Given the description of an element on the screen output the (x, y) to click on. 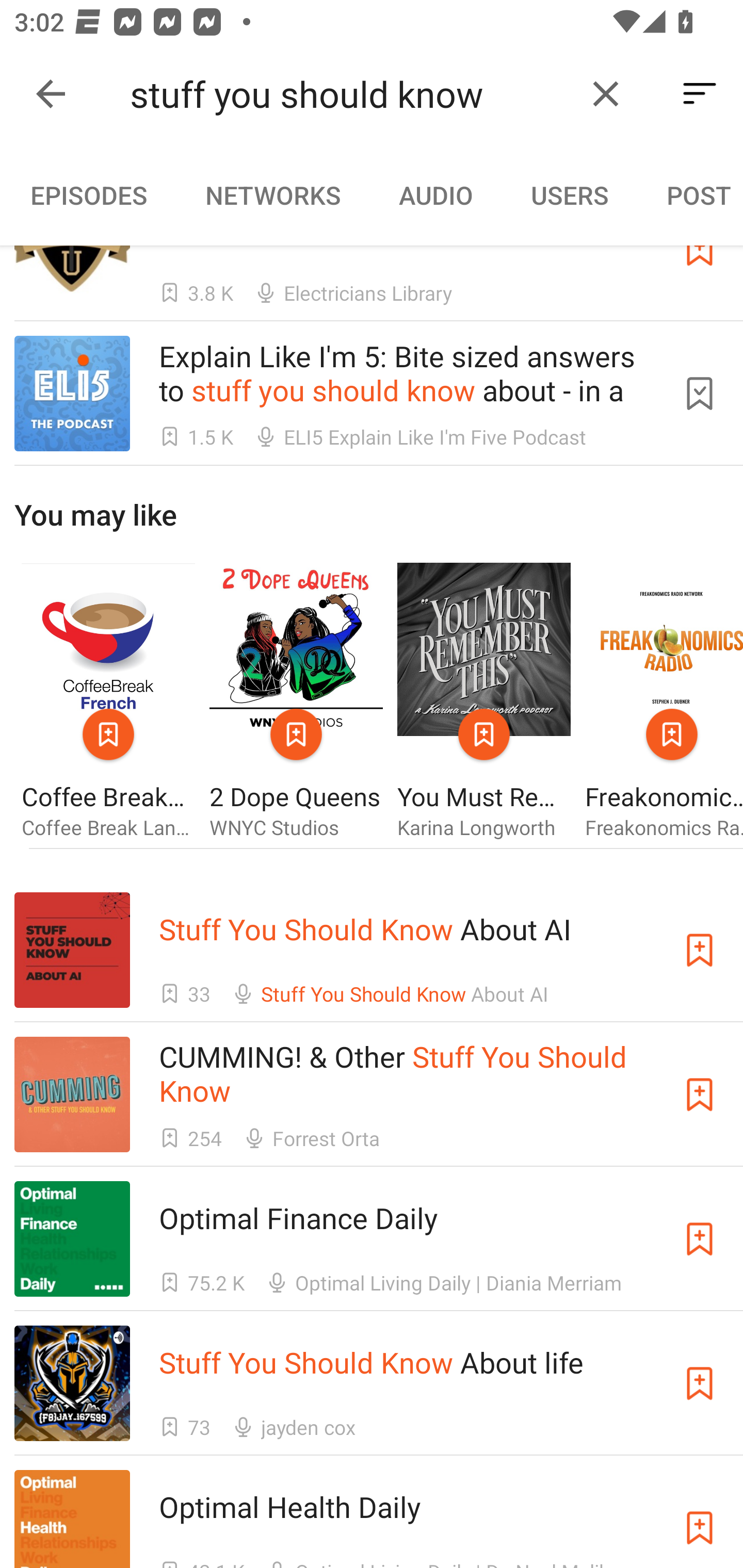
Collapse (50, 93)
Clear query (605, 93)
Sort By (699, 93)
stuff you should know (349, 94)
EPISODES (88, 195)
NETWORKS (272, 195)
AUDIO (435, 195)
USERS (569, 195)
POST (690, 195)
Unsubscribe (699, 393)
Coffee Break French Coffee Break Languages (107, 701)
2 Dope Queens WNYC Studios (295, 701)
You Must Remember This Karina Longworth (483, 701)
Freakonomics Radio Freakonomics Radio + Stitcher (664, 701)
Subscribe (699, 950)
Subscribe (699, 1094)
Subscribe (699, 1238)
Subscribe (699, 1382)
Subscribe (699, 1519)
